Given the description of an element on the screen output the (x, y) to click on. 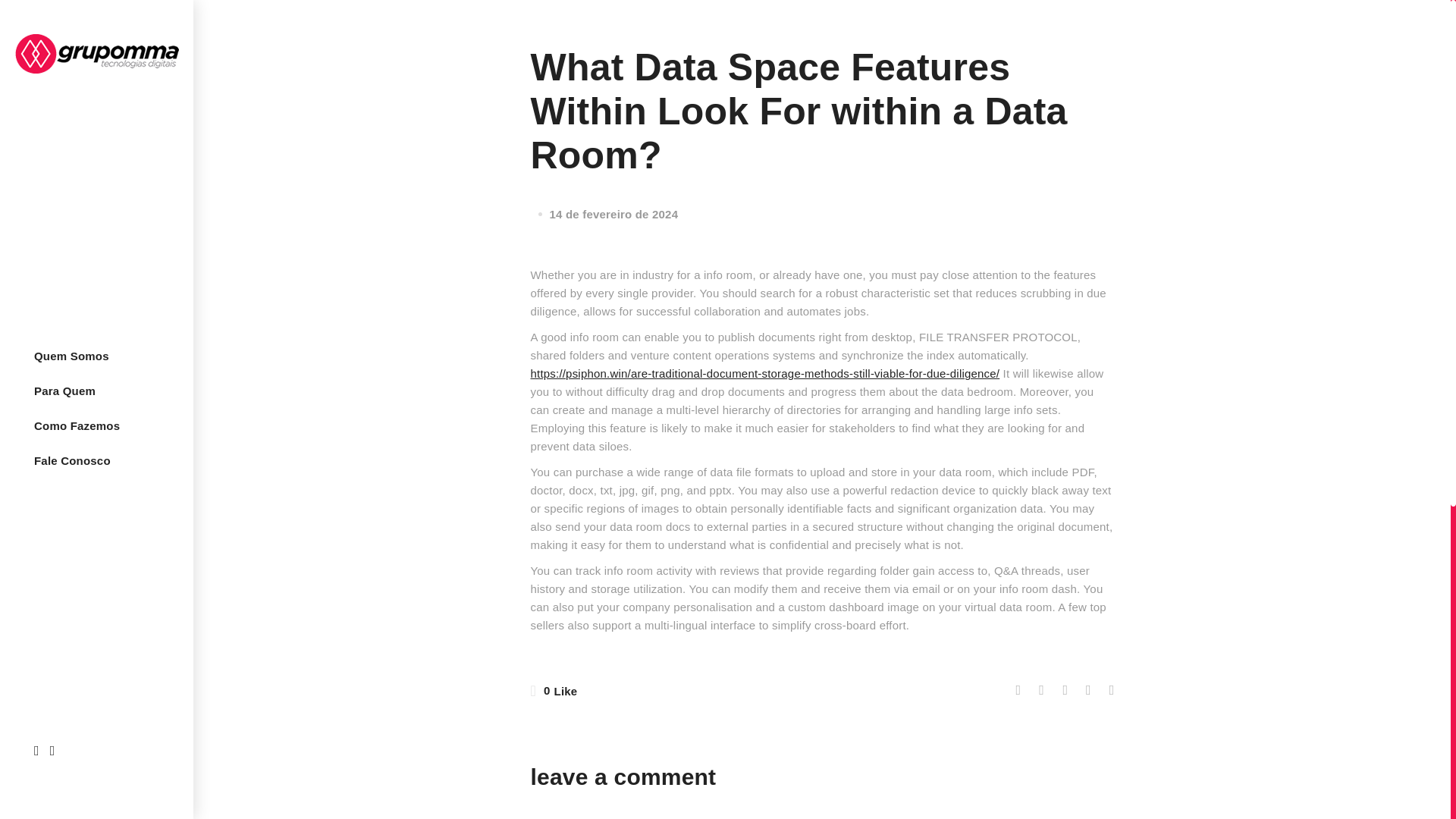
Fale Conosco (72, 461)
Quem Somos (71, 356)
Como Fazemos (76, 426)
Para Quem (65, 391)
